Given the description of an element on the screen output the (x, y) to click on. 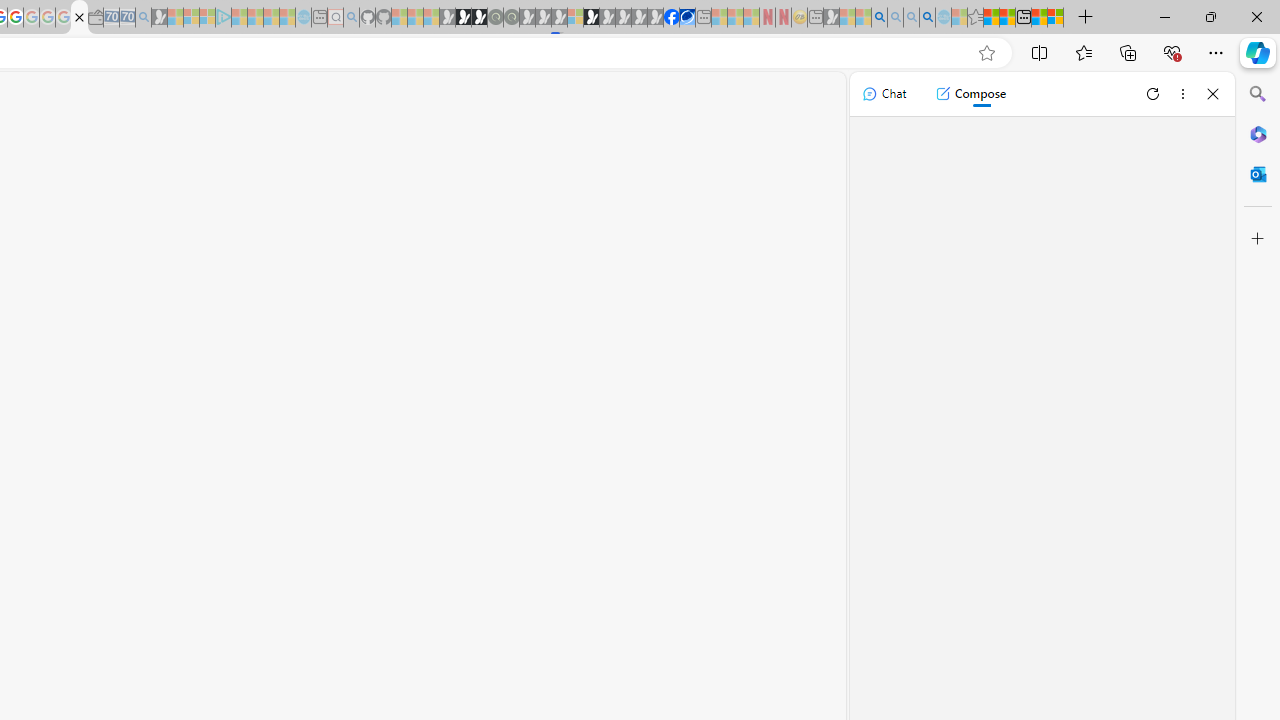
Aberdeen, Hong Kong SAR weather forecast | Microsoft Weather (1007, 17)
Nordace | Facebook (671, 17)
